Given the description of an element on the screen output the (x, y) to click on. 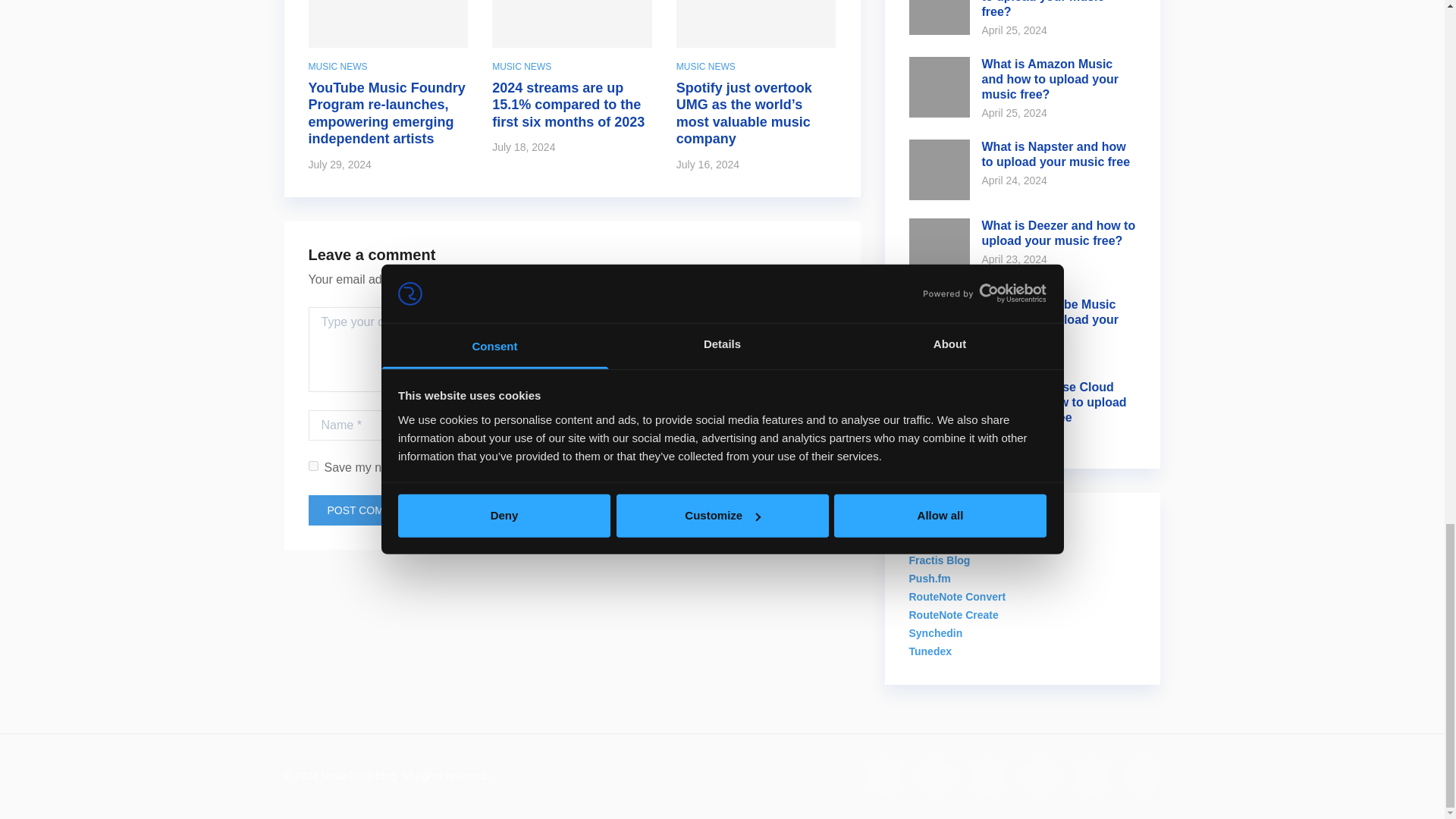
Post Comment (369, 510)
yes (312, 465)
